Given the description of an element on the screen output the (x, y) to click on. 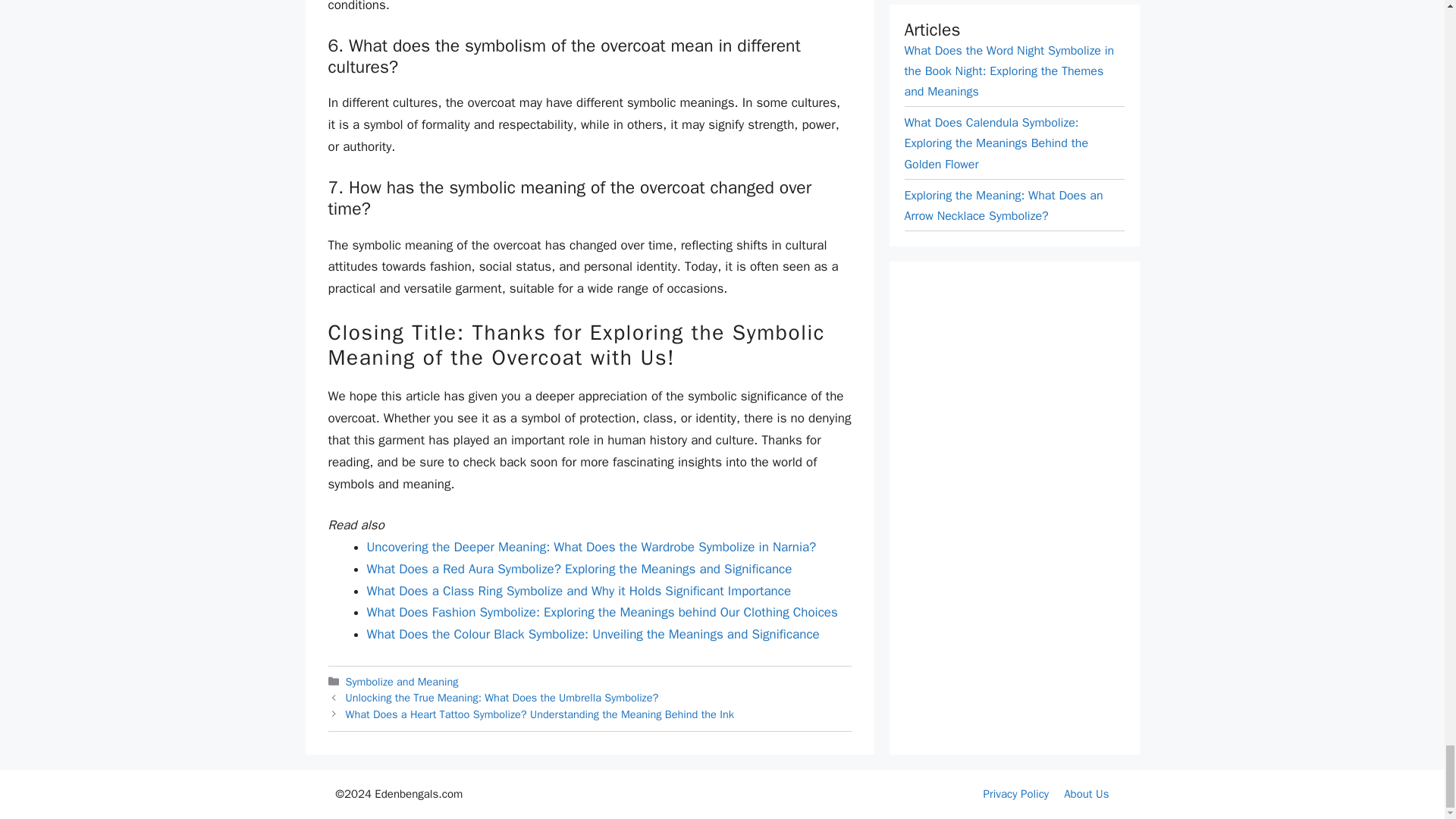
Privacy Policy (1016, 793)
About Us (1086, 793)
Symbolize and Meaning (402, 681)
